Given the description of an element on the screen output the (x, y) to click on. 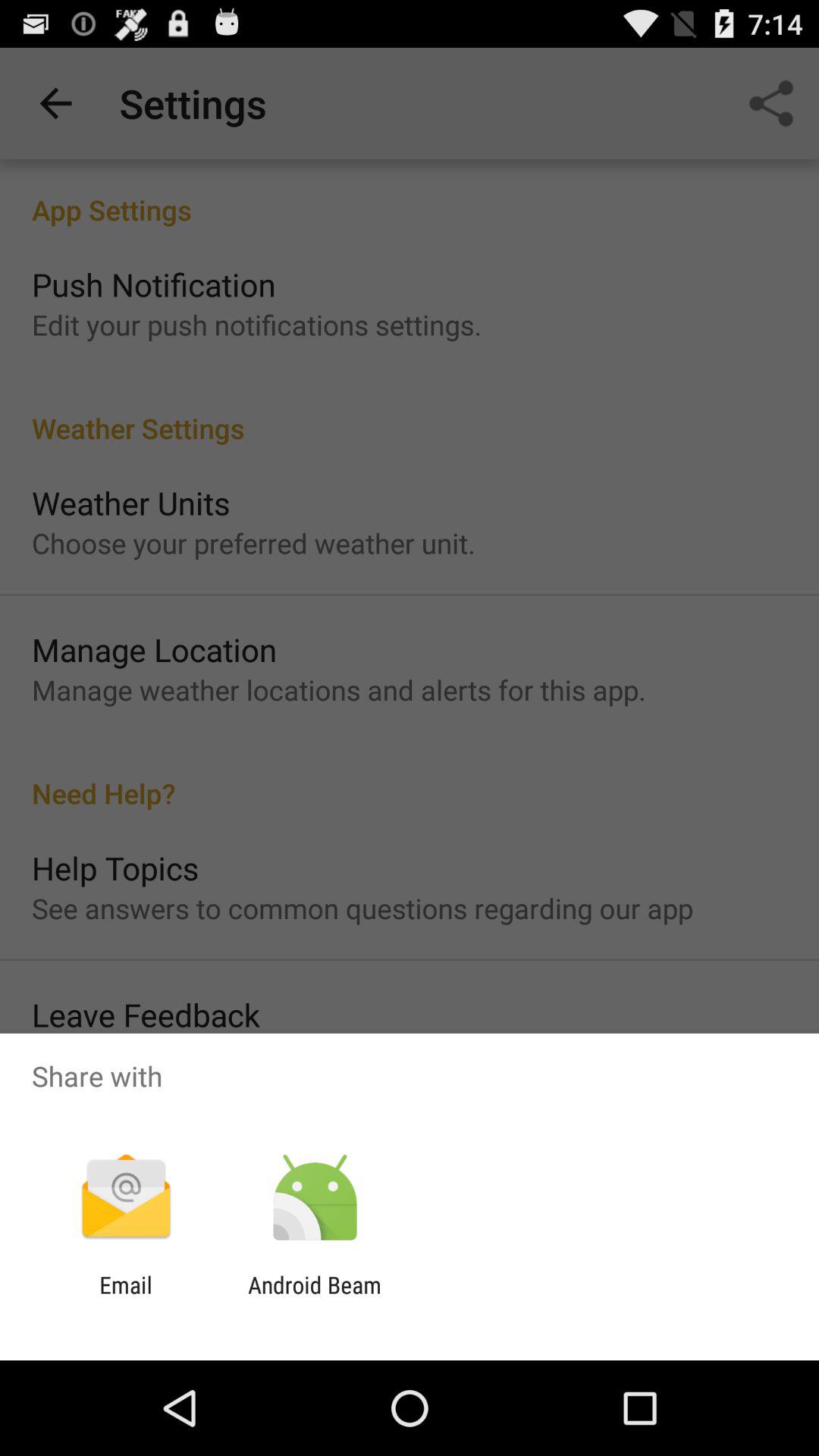
choose item to the right of email icon (314, 1298)
